Given the description of an element on the screen output the (x, y) to click on. 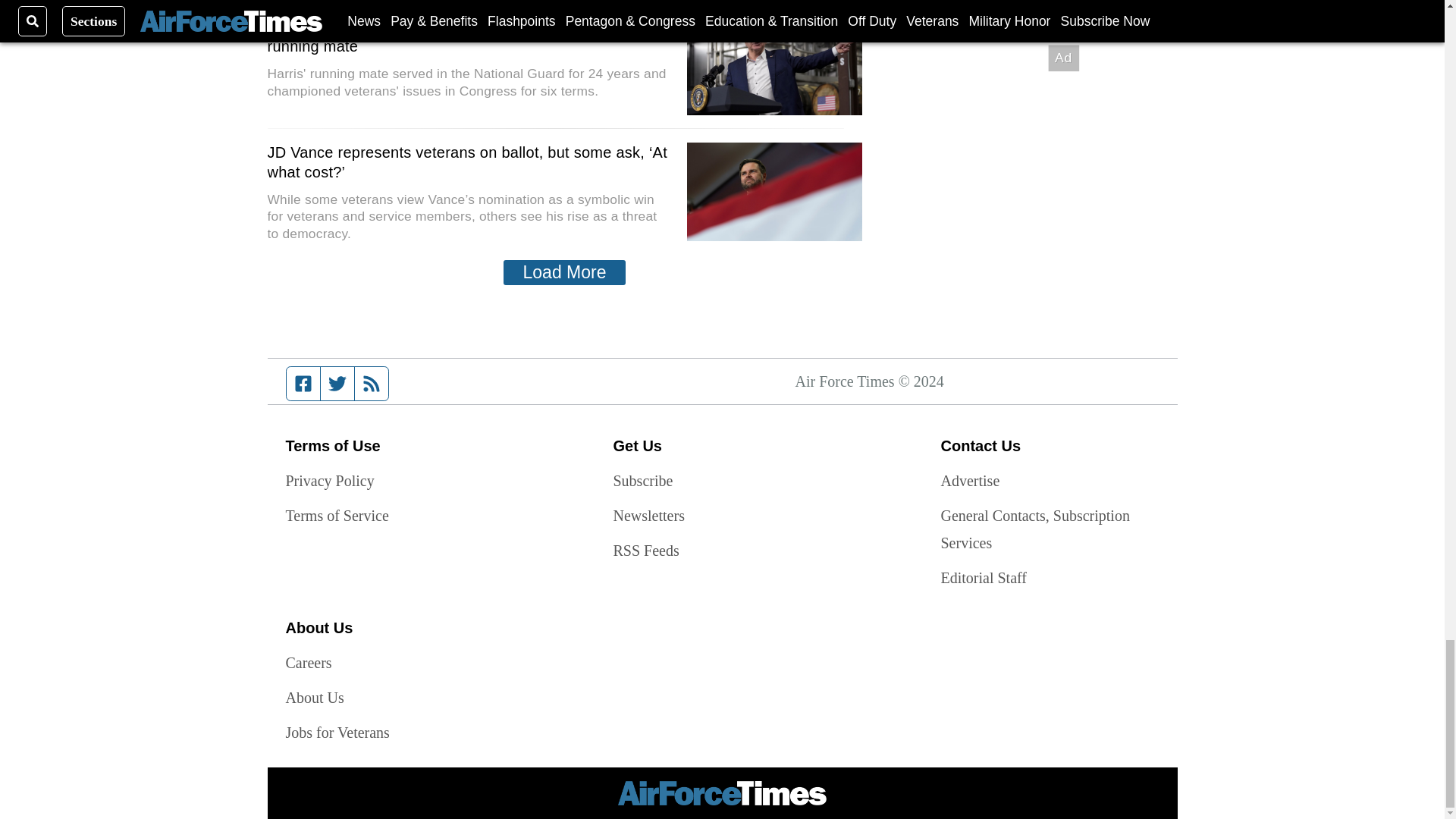
Facebook page (303, 383)
Twitter feed (336, 383)
RSS feed (371, 383)
